Given the description of an element on the screen output the (x, y) to click on. 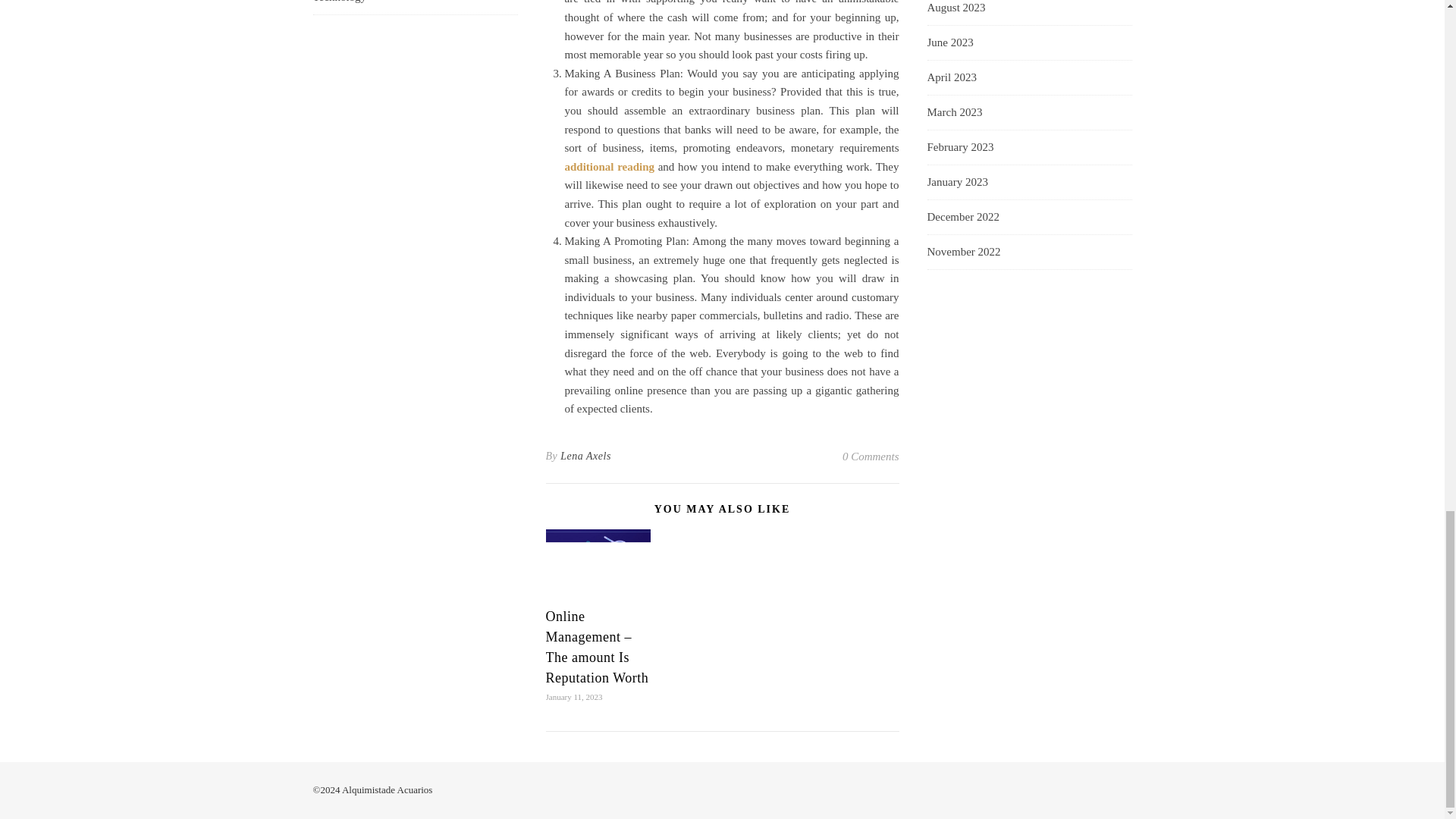
Posts by Lena Axels (585, 456)
Technology (339, 7)
0 Comments (871, 456)
Lena Axels (585, 456)
additional reading (608, 166)
